Given the description of an element on the screen output the (x, y) to click on. 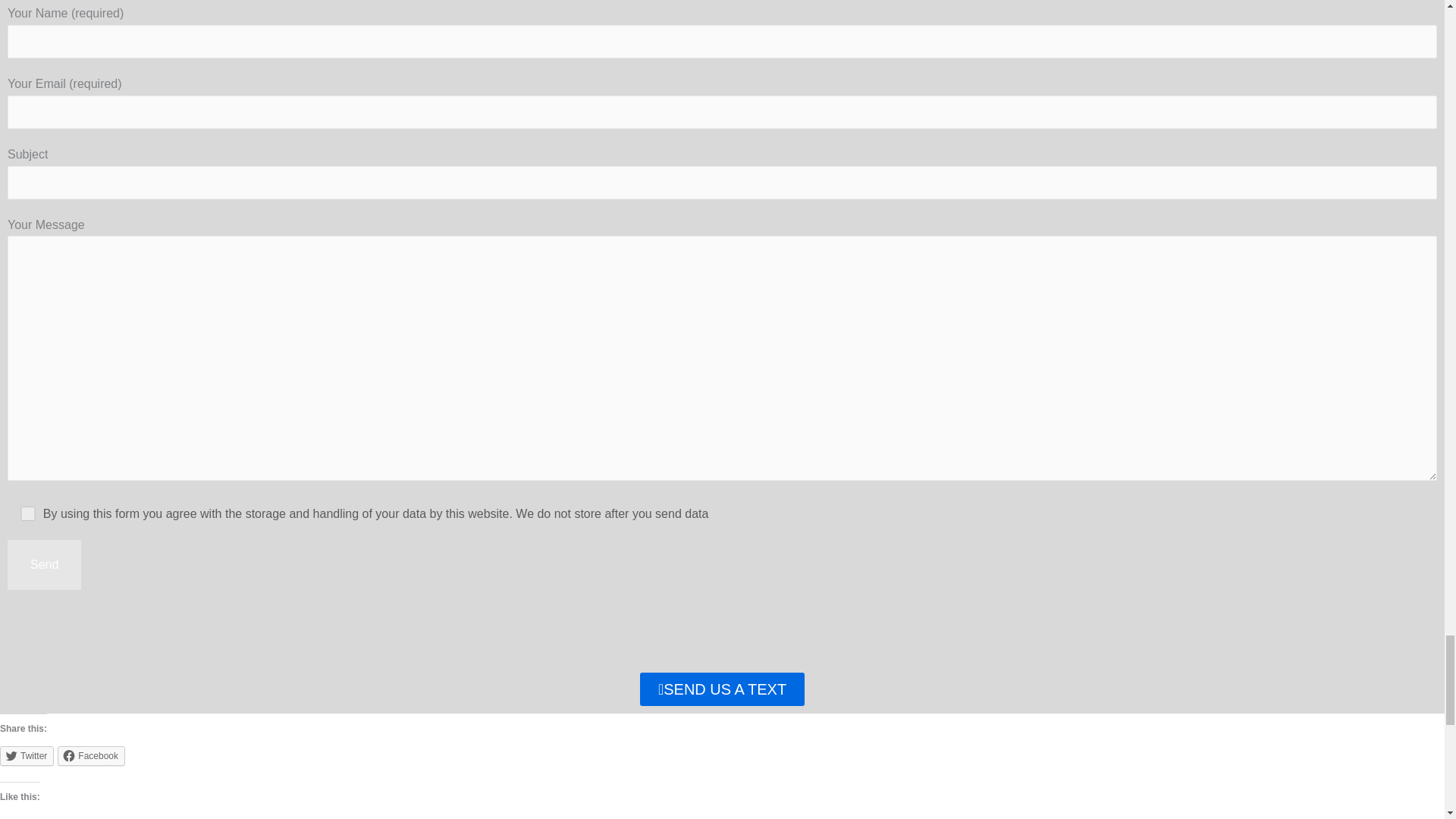
1 (28, 513)
Send (44, 564)
Facebook (91, 755)
Send (44, 564)
Twitter (26, 755)
Click to share on Facebook (91, 755)
SEND US A TEXT (722, 688)
Click to share on Twitter (26, 755)
